Given the description of an element on the screen output the (x, y) to click on. 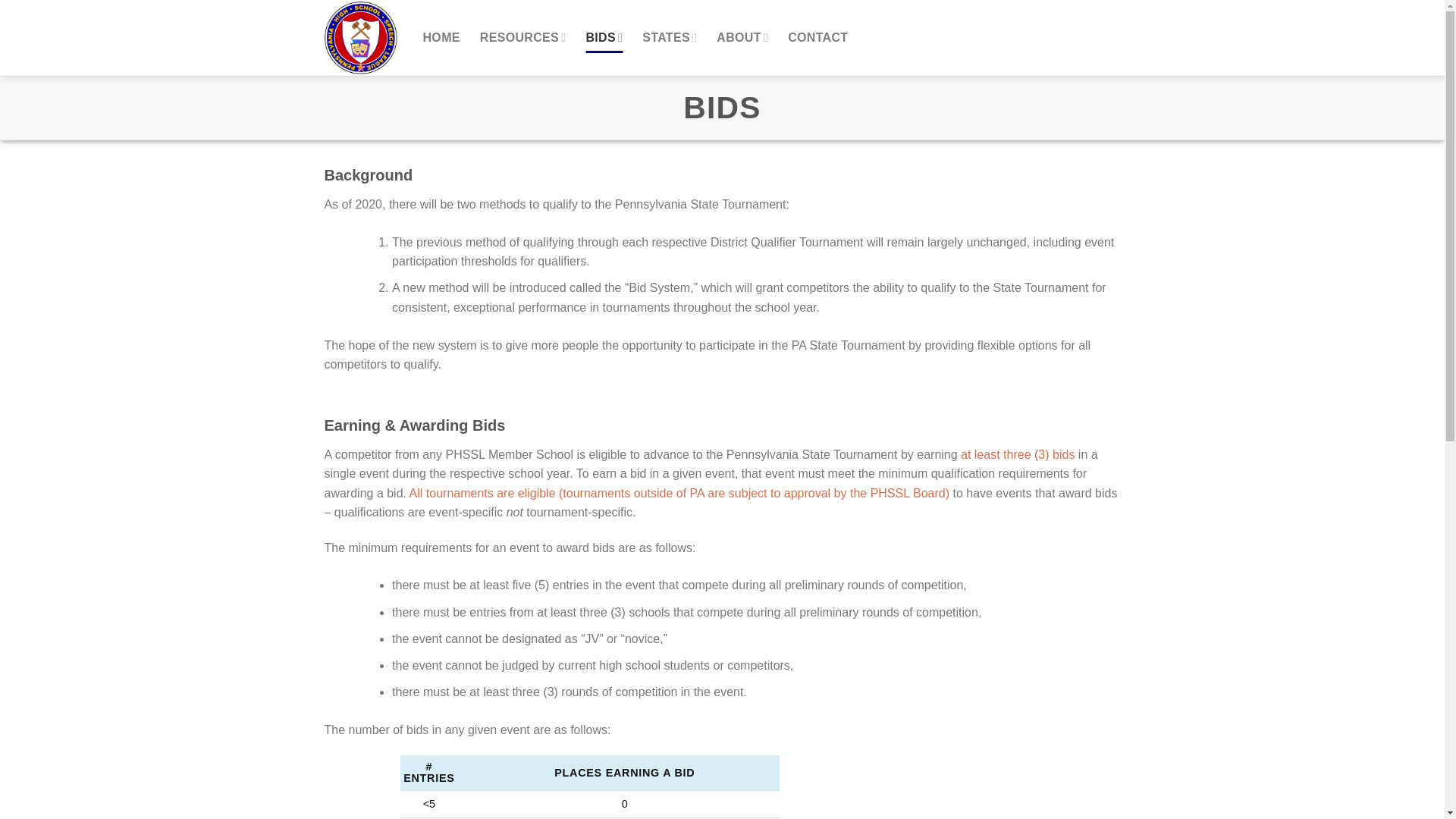
HOME (441, 37)
STATES (669, 37)
CONTACT (817, 37)
BIDS (604, 37)
PHSSL - Pennsylvania High School Speech League (362, 38)
ABOUT (742, 37)
RESOURCES (523, 37)
